Given the description of an element on the screen output the (x, y) to click on. 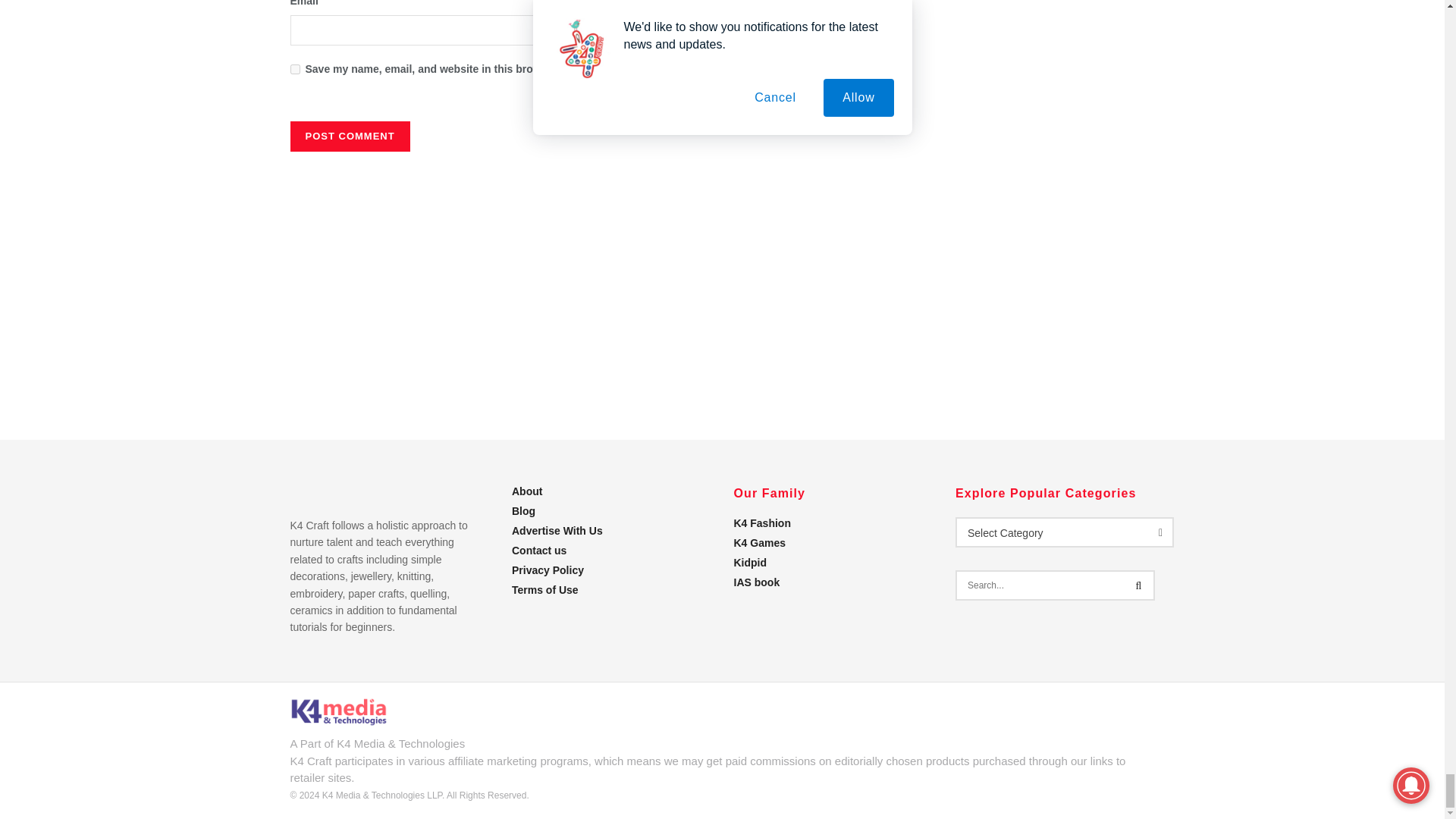
yes (294, 69)
Post Comment (349, 136)
